Given the description of an element on the screen output the (x, y) to click on. 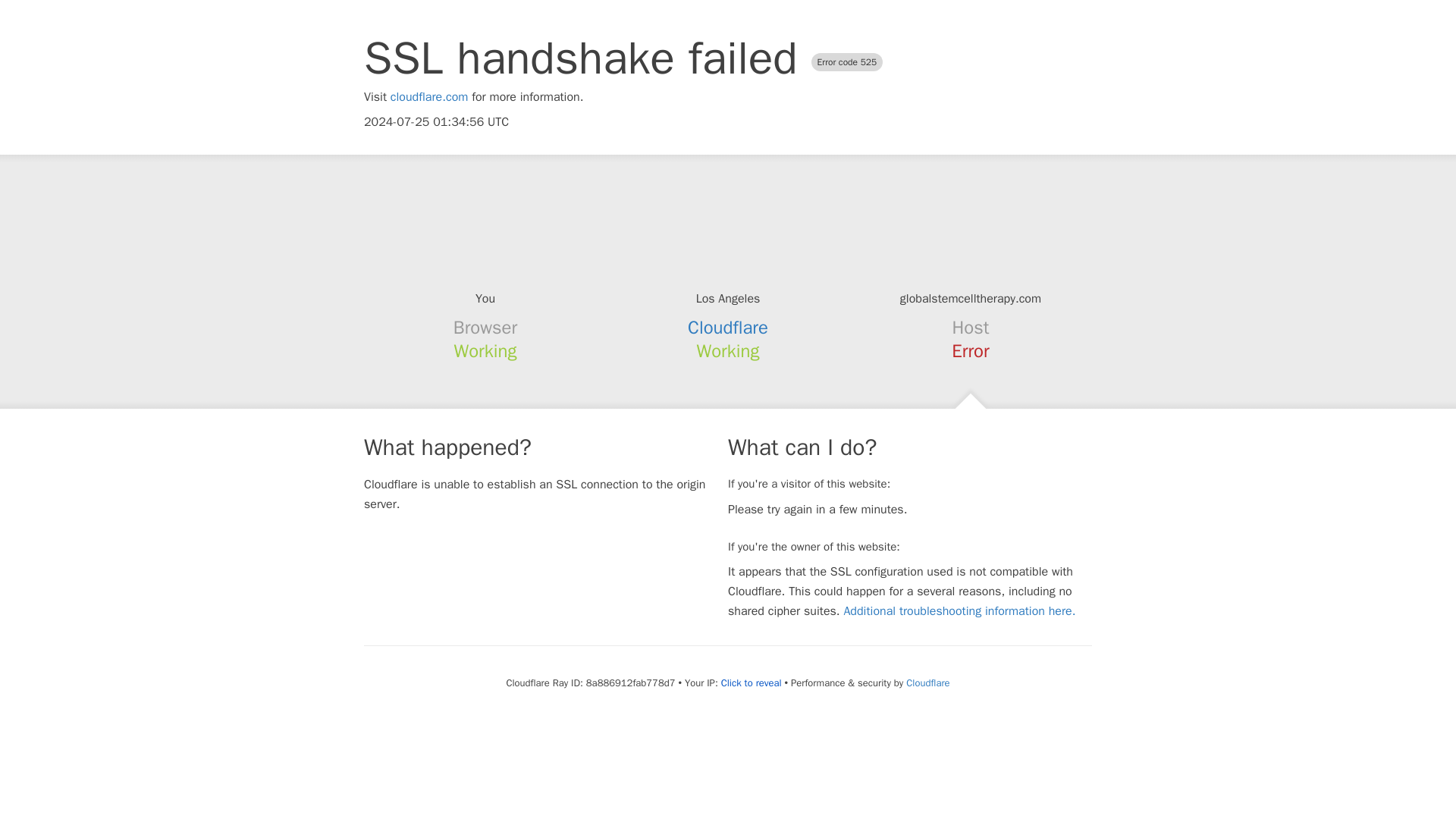
cloudflare.com (429, 96)
Cloudflare (927, 682)
Cloudflare (727, 327)
Click to reveal (750, 683)
Additional troubleshooting information here. (959, 611)
